Given the description of an element on the screen output the (x, y) to click on. 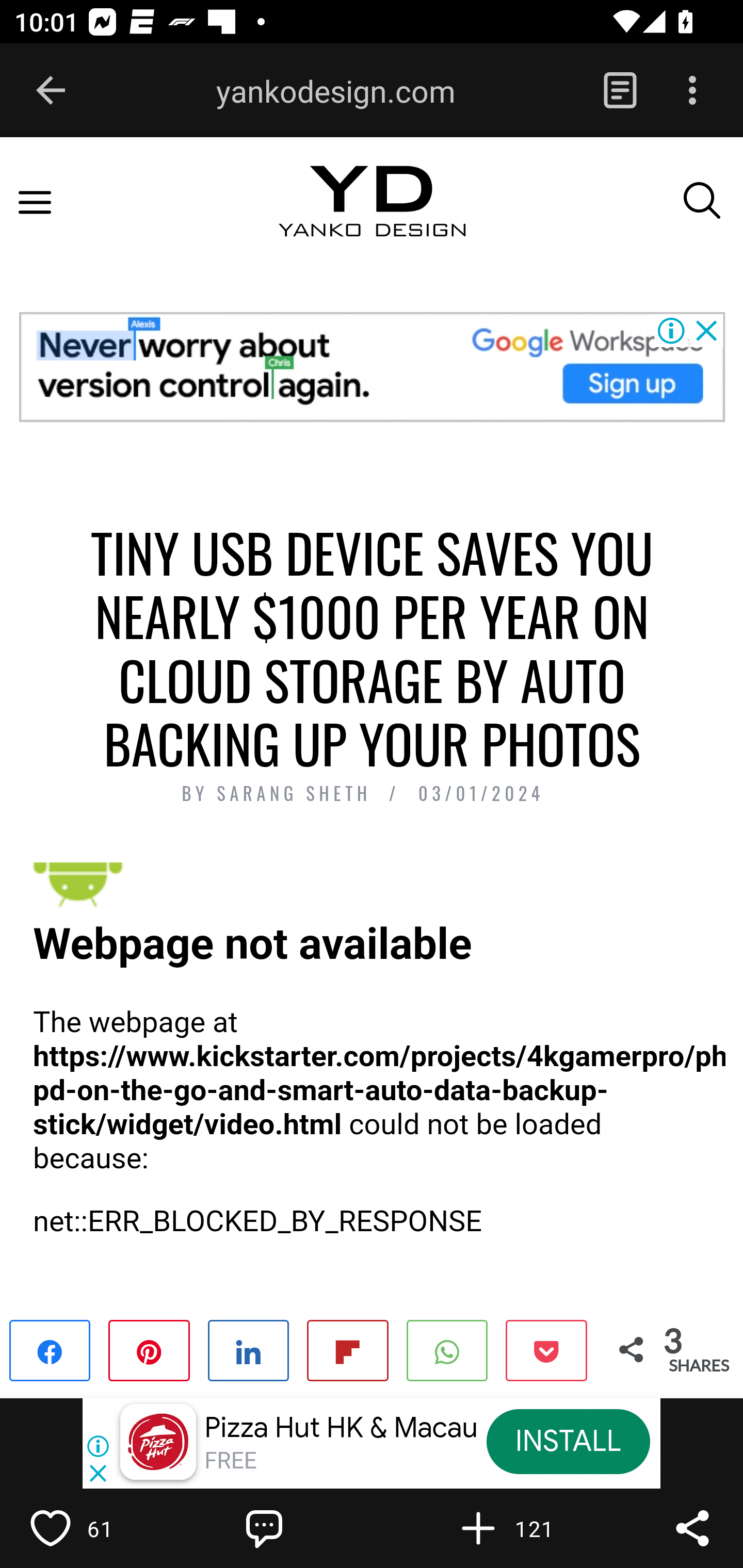
Back (50, 90)
Reader View (619, 90)
Options (692, 90)
Yanko Design - Modern Industrial Design News (371, 218)
Advertisement (371, 366)
k Share k Share (50, 1348)
A Pin A Pin (148, 1348)
s Share s Share (249, 1348)
m Flip m Flip (346, 1348)
T WhatsApp T WhatsApp (447, 1348)
C Pocket C Pocket (545, 1348)
Pizza Hut HK & Macau (340, 1428)
INSTALL (567, 1441)
FREE (230, 1461)
Like 61 (93, 1528)
Write a comment… (307, 1528)
Flip into Magazine 121 (521, 1528)
Share (692, 1528)
